Given the description of an element on the screen output the (x, y) to click on. 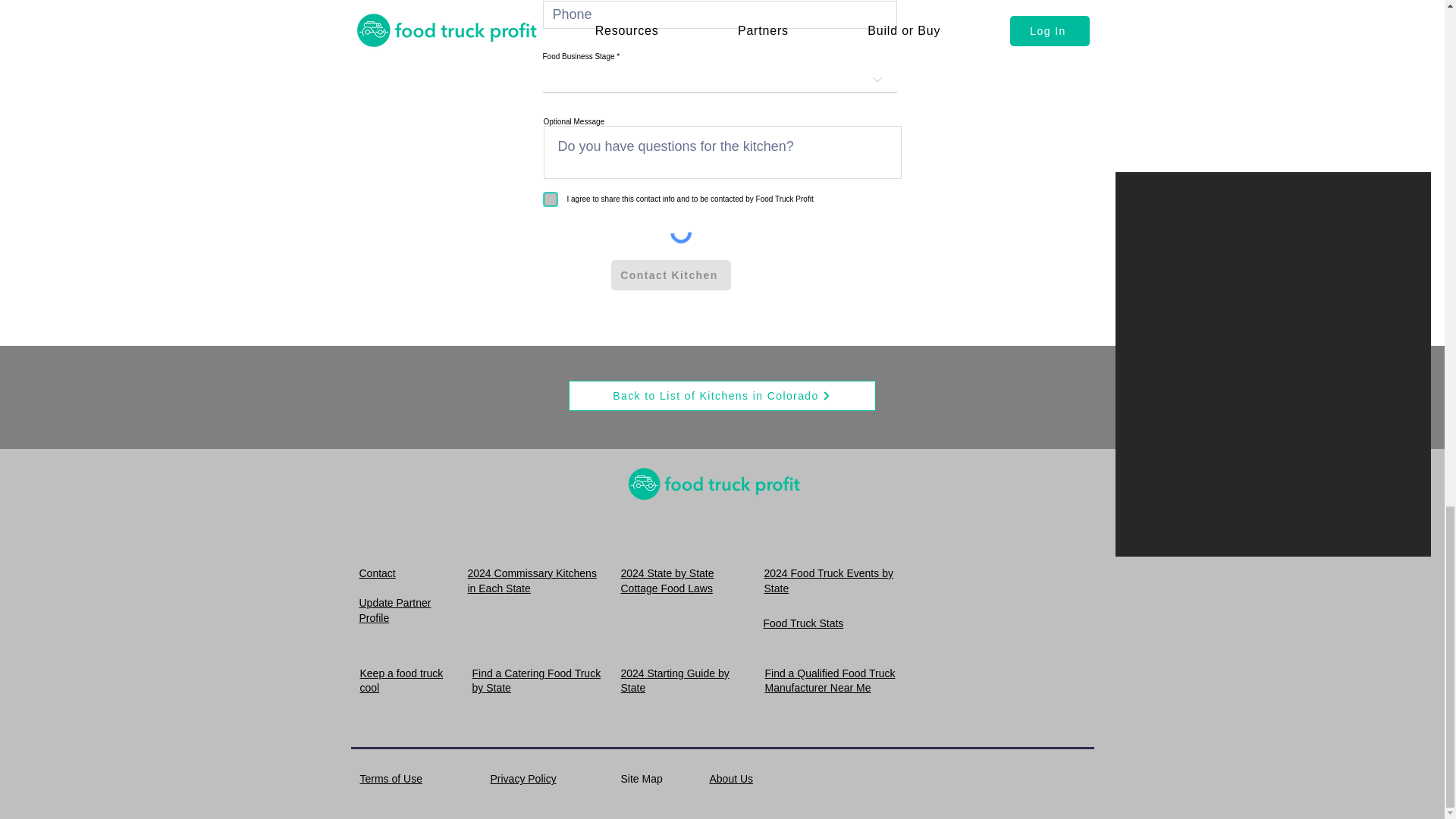
2024 State by State Cottage Food Laws (666, 580)
Terms of Use (390, 778)
Food Truck Stats (802, 623)
Find a Qualified Food Truck Manufacturer Near Me (829, 680)
2024 Commissary Kitchens in Each State (531, 580)
Contact Kitchen (670, 275)
Contact (377, 573)
2024 Food Truck Events by State (828, 580)
Keep a food truck cool (400, 680)
Update Partner Profile (394, 610)
Back to List of Kitchens in Colorado (722, 395)
2024 Starting Guide by State (674, 680)
Find a Catering Food Truck by State (535, 680)
Privacy Policy (522, 778)
About Us (732, 778)
